Given the description of an element on the screen output the (x, y) to click on. 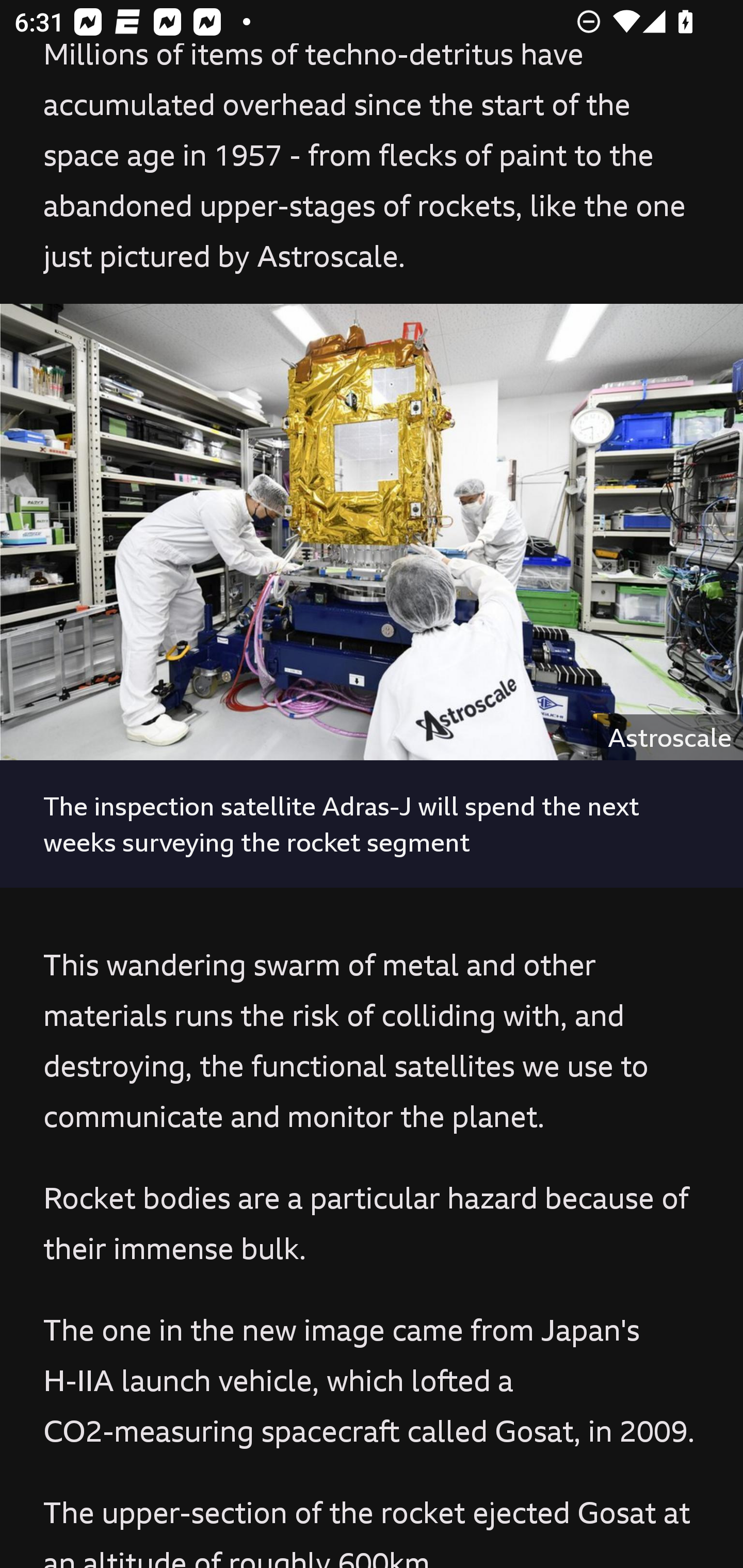
Adras-J (371, 532)
